Given the description of an element on the screen output the (x, y) to click on. 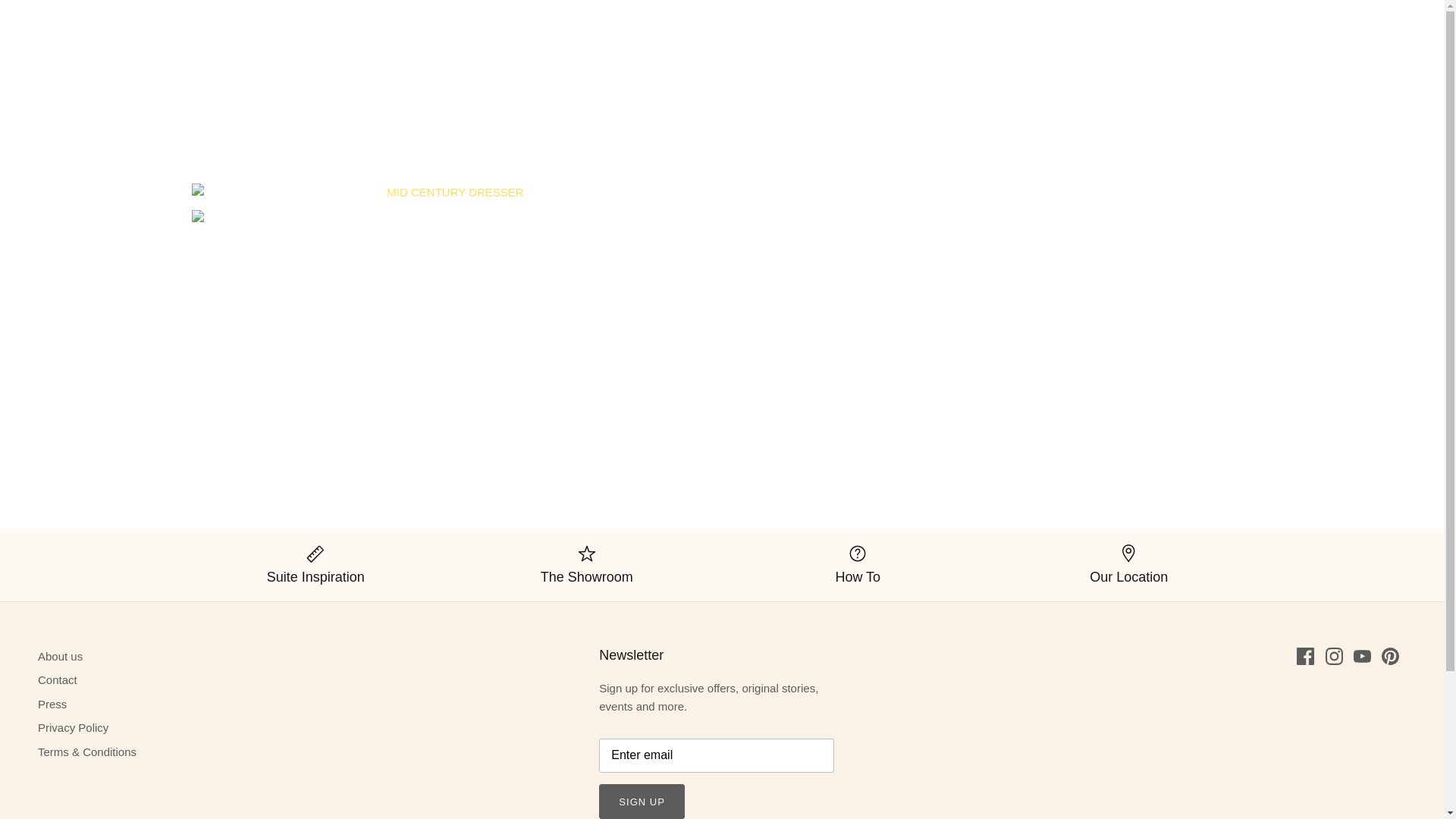
Instagram (1333, 656)
Pinterest (1390, 656)
Youtube (1362, 656)
Facebook (1305, 656)
